Given the description of an element on the screen output the (x, y) to click on. 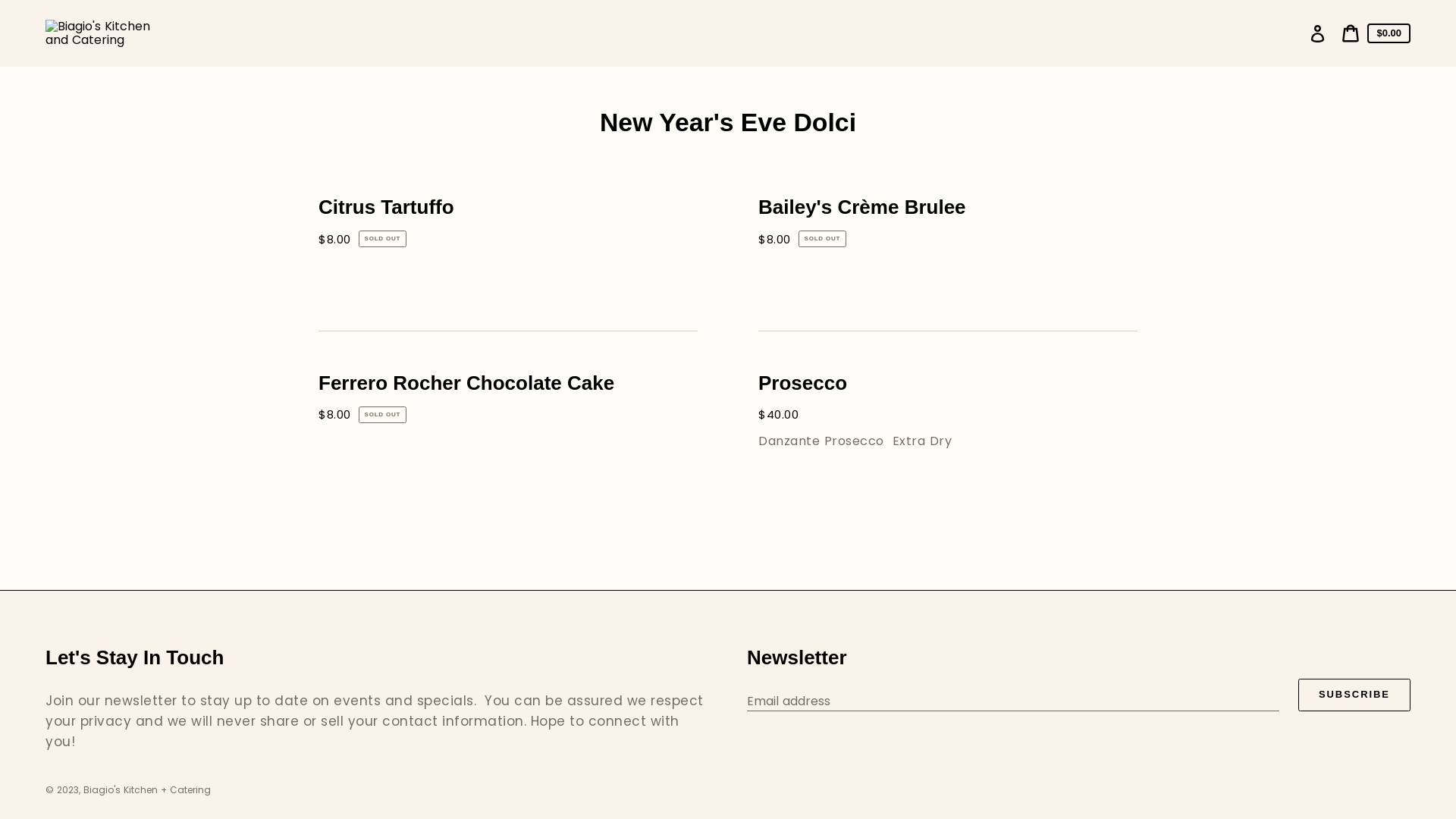
Citrus Tartuffo Element type: text (507, 250)
SUBSCRIBE Element type: text (1354, 694)
Ferrero Rocher Chocolate Cake Element type: text (507, 426)
Cart Element type: text (1350, 33)
Prosecco Element type: text (947, 426)
Biagio's Kitchen + Catering Element type: text (146, 789)
Log in Element type: text (1317, 32)
